Given the description of an element on the screen output the (x, y) to click on. 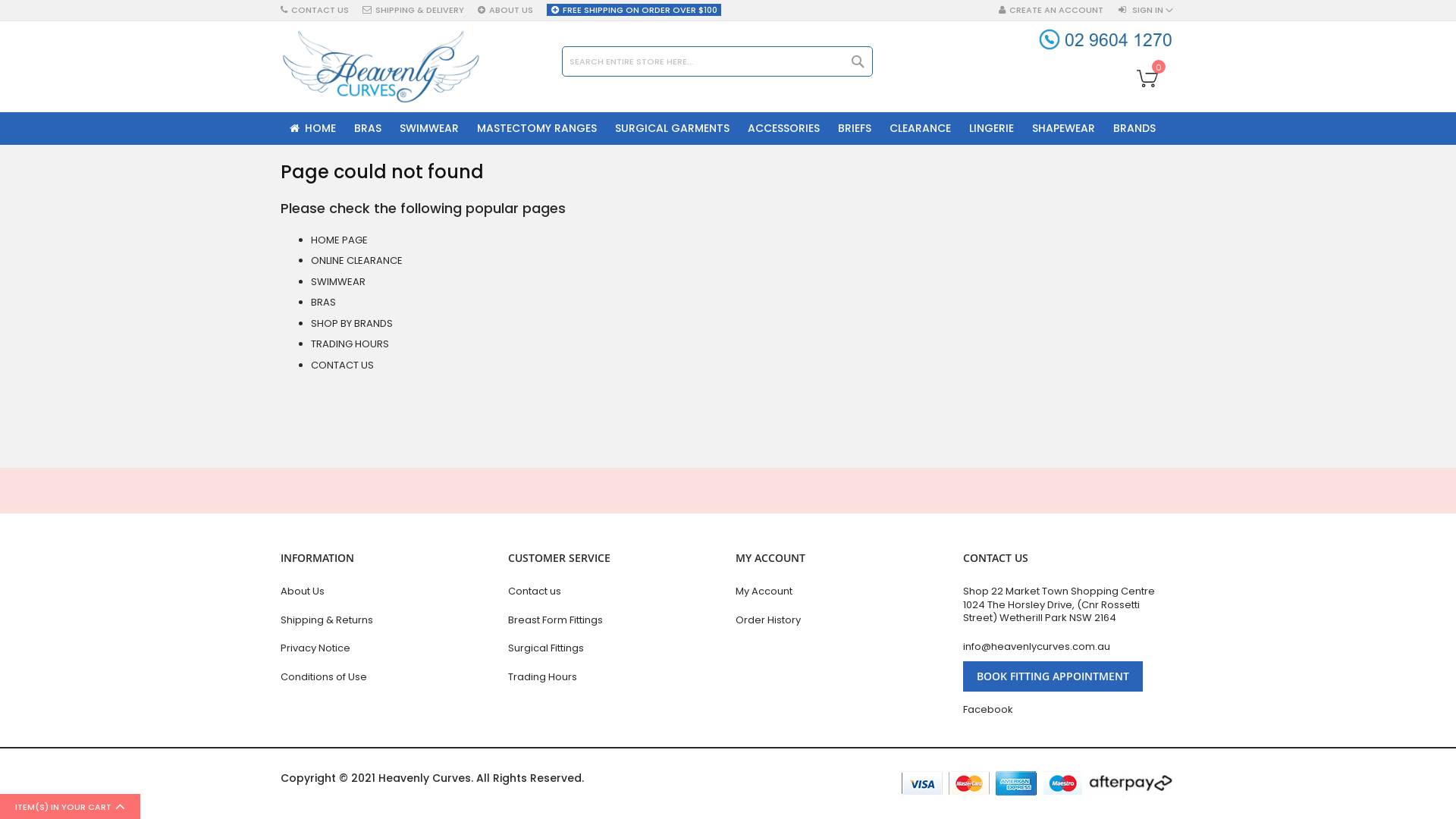
SURGICAL GARMENTS Element type: text (671, 128)
MASTECTOMY RANGES Element type: text (536, 128)
LINGERIE Element type: text (991, 128)
ACCESSORIES Element type: text (783, 128)
BRANDS Element type: text (1134, 128)
FREE SHIPPING ON ORDER OVER $100 Element type: text (633, 9)
Conditions of Use Element type: text (386, 676)
TRADING HOURS Element type: text (349, 343)
SWIMWEAR Element type: text (428, 128)
HOME Element type: text (312, 128)
CREATE AN ACCOUNT Element type: text (1050, 9)
ABOUT US Element type: text (505, 9)
Breast Form Fittings Element type: text (614, 619)
SWIMWEAR Element type: text (337, 281)
HOME PAGE Element type: text (338, 239)
SHAPEWEAR Element type: text (1063, 128)
Contact us Element type: text (614, 591)
BRIEFS Element type: text (854, 128)
BRAS Element type: text (367, 128)
CONTACT US Element type: text (341, 364)
BOOK FITTING APPOINTMENT Element type: text (1052, 676)
CLEARANCE Element type: text (920, 128)
BRAS Element type: text (322, 301)
info@heavenlycurves.com.au Element type: text (1069, 646)
Shipping & Returns Element type: text (386, 619)
Facebook Element type: text (1069, 709)
BOOK FITTING APPOINTMENT Element type: text (1052, 676)
CONTACT US Element type: text (314, 9)
SEARCH Element type: text (857, 61)
My Cart
0 Element type: text (1153, 77)
Order History Element type: text (841, 619)
Skip to Content Element type: text (279, 3)
Privacy Notice Element type: text (386, 647)
My Account Element type: text (841, 591)
Trading Hours Element type: text (614, 676)
ONLINE CLEARANCE Element type: text (356, 260)
SHOP BY BRANDS Element type: text (351, 323)
About Us Element type: text (386, 591)
SHIPPING & DELIVERY Element type: text (413, 9)
Surgical Fittings Element type: text (614, 647)
